Given the description of an element on the screen output the (x, y) to click on. 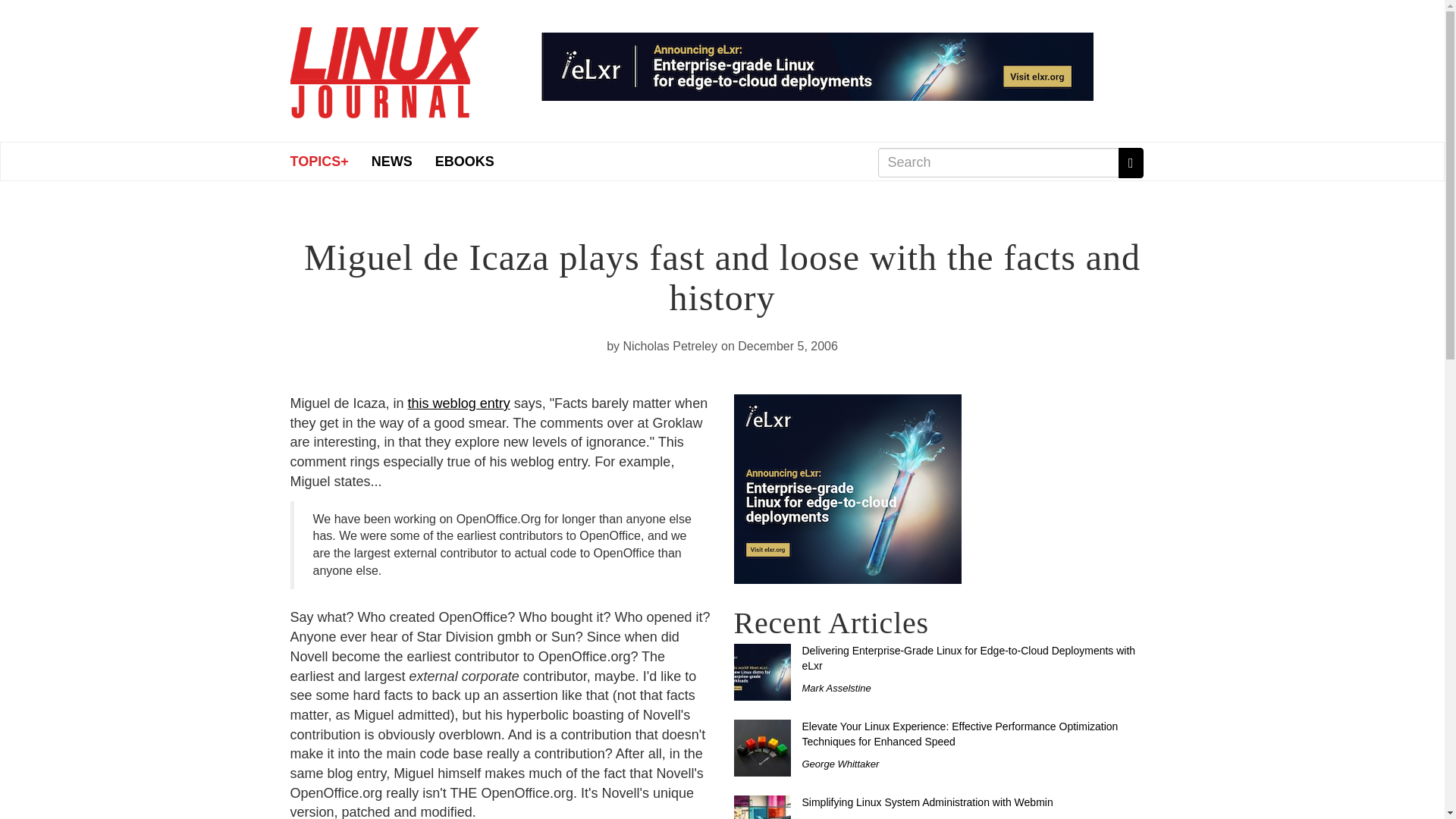
Enter the terms you wish to search for. (998, 162)
NEWS (391, 160)
George Whittaker (840, 763)
Simplifying Linux System Administration with Webmin (927, 802)
this weblog entry (459, 403)
EBOOKS (464, 160)
Home (384, 66)
